Given the description of an element on the screen output the (x, y) to click on. 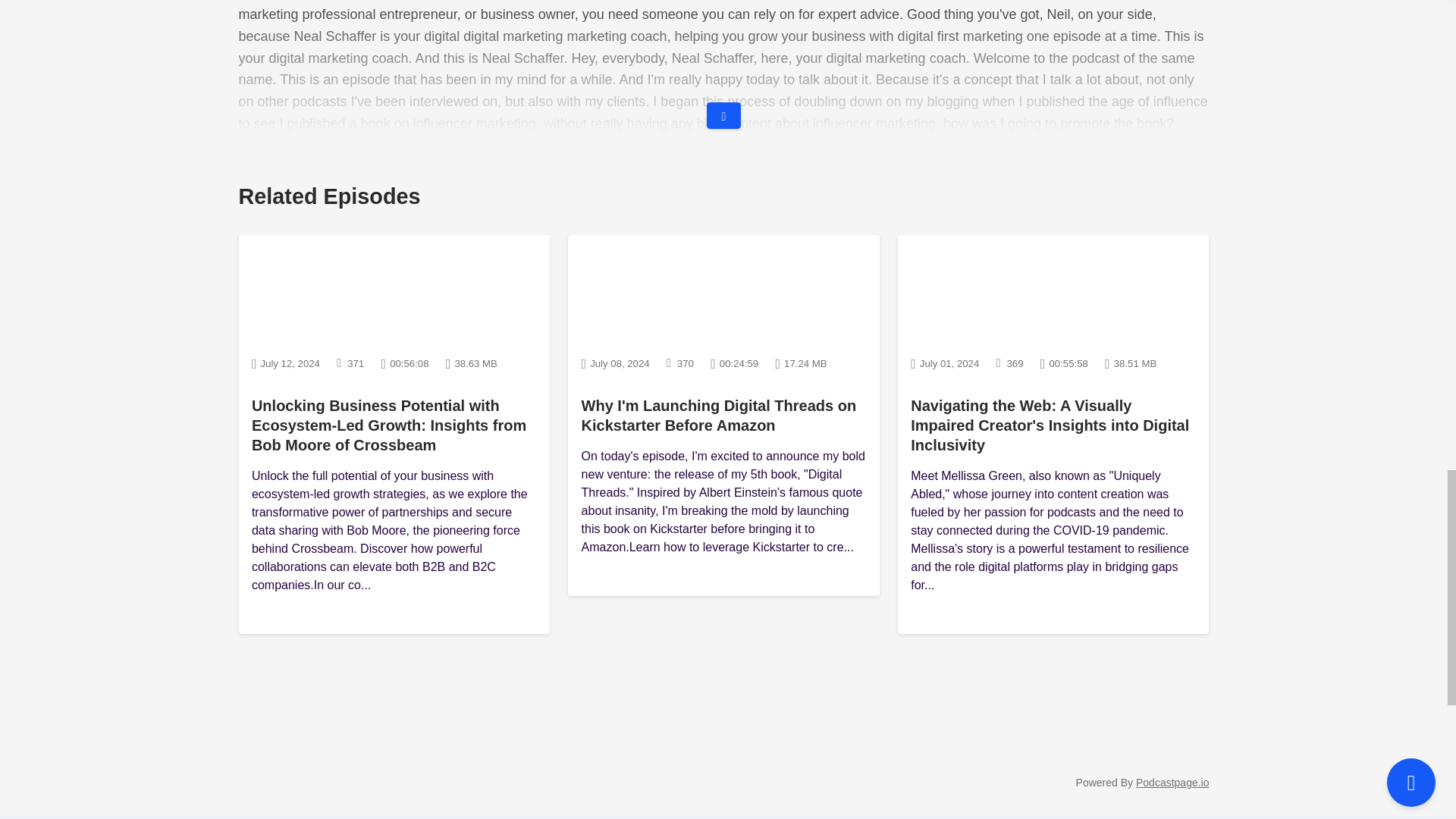
Episode Duration (405, 362)
Expand (723, 67)
Date (285, 362)
